Given the description of an element on the screen output the (x, y) to click on. 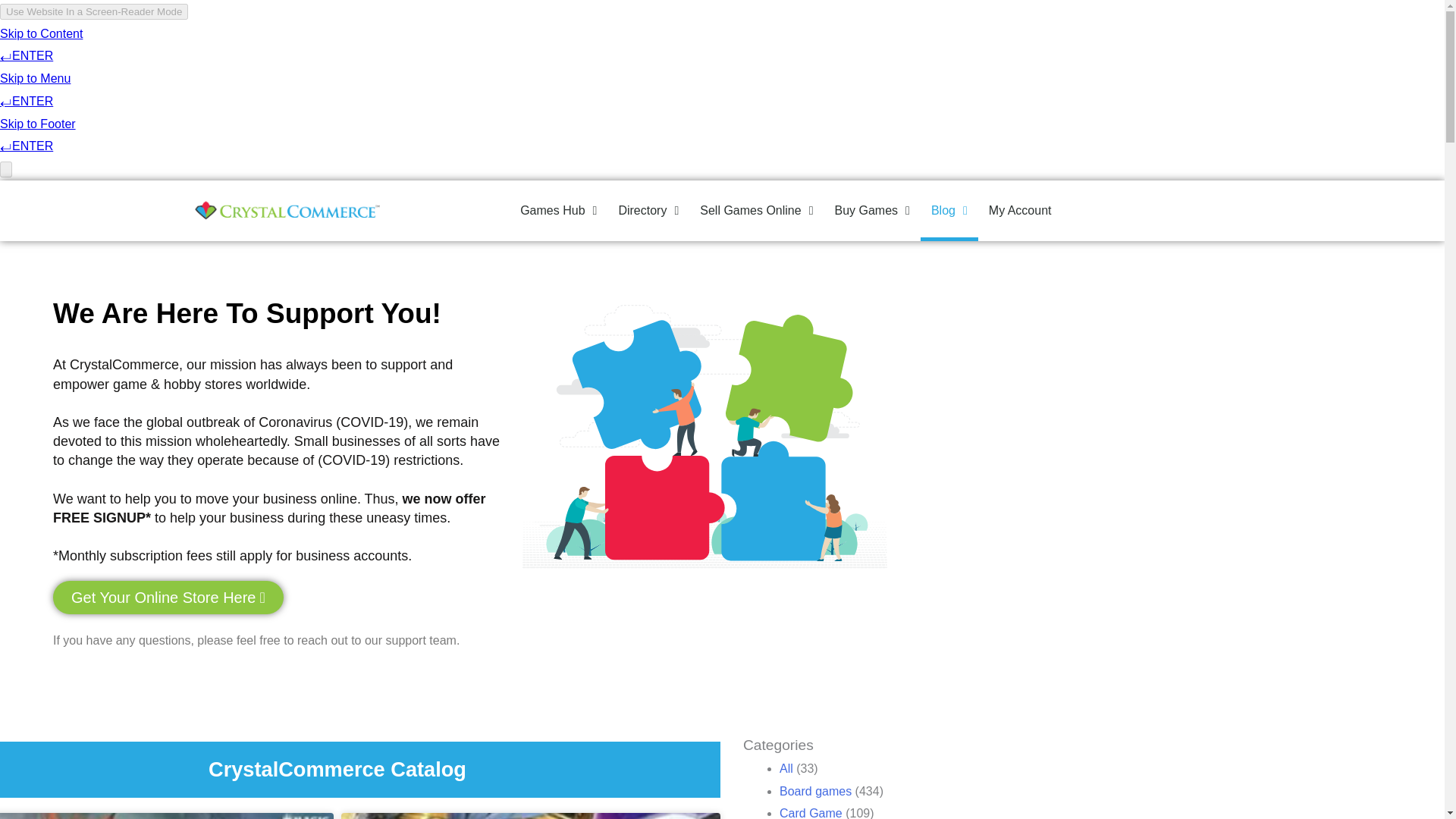
Blog (949, 210)
Buy Games (872, 210)
Sell Games Online (756, 210)
Games Hub (558, 210)
My Account (1020, 210)
Directory (647, 210)
